Given the description of an element on the screen output the (x, y) to click on. 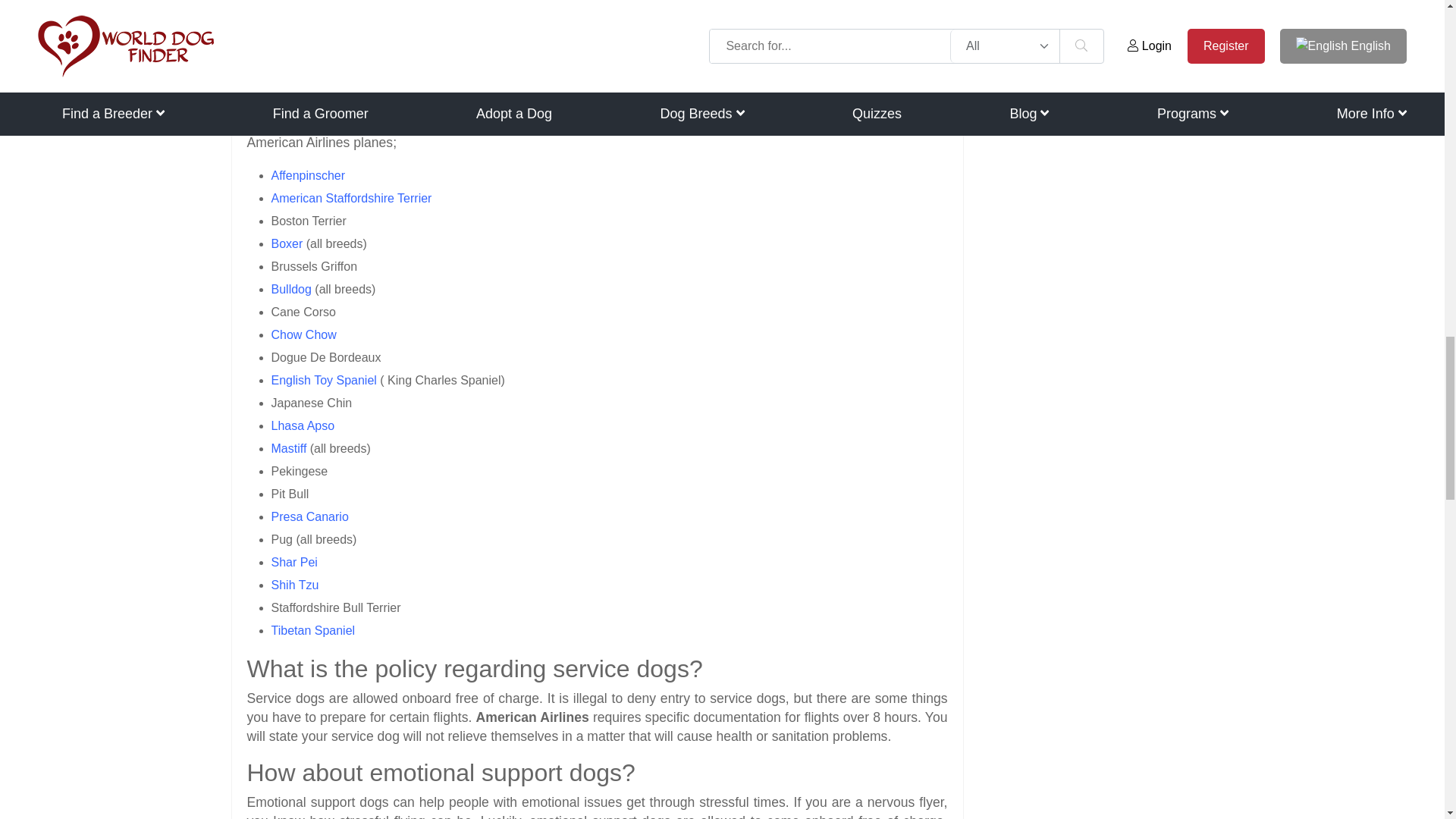
Mastiff (288, 448)
Chow Chow (303, 334)
American Staffordshire Terrier (351, 197)
Lhasa Apso (302, 425)
English Toy Spaniel (323, 379)
Boxer (286, 243)
Shar Pei (293, 562)
Presa Canario (309, 516)
Affenpinscher (308, 174)
Shih Tzu (294, 584)
